Given the description of an element on the screen output the (x, y) to click on. 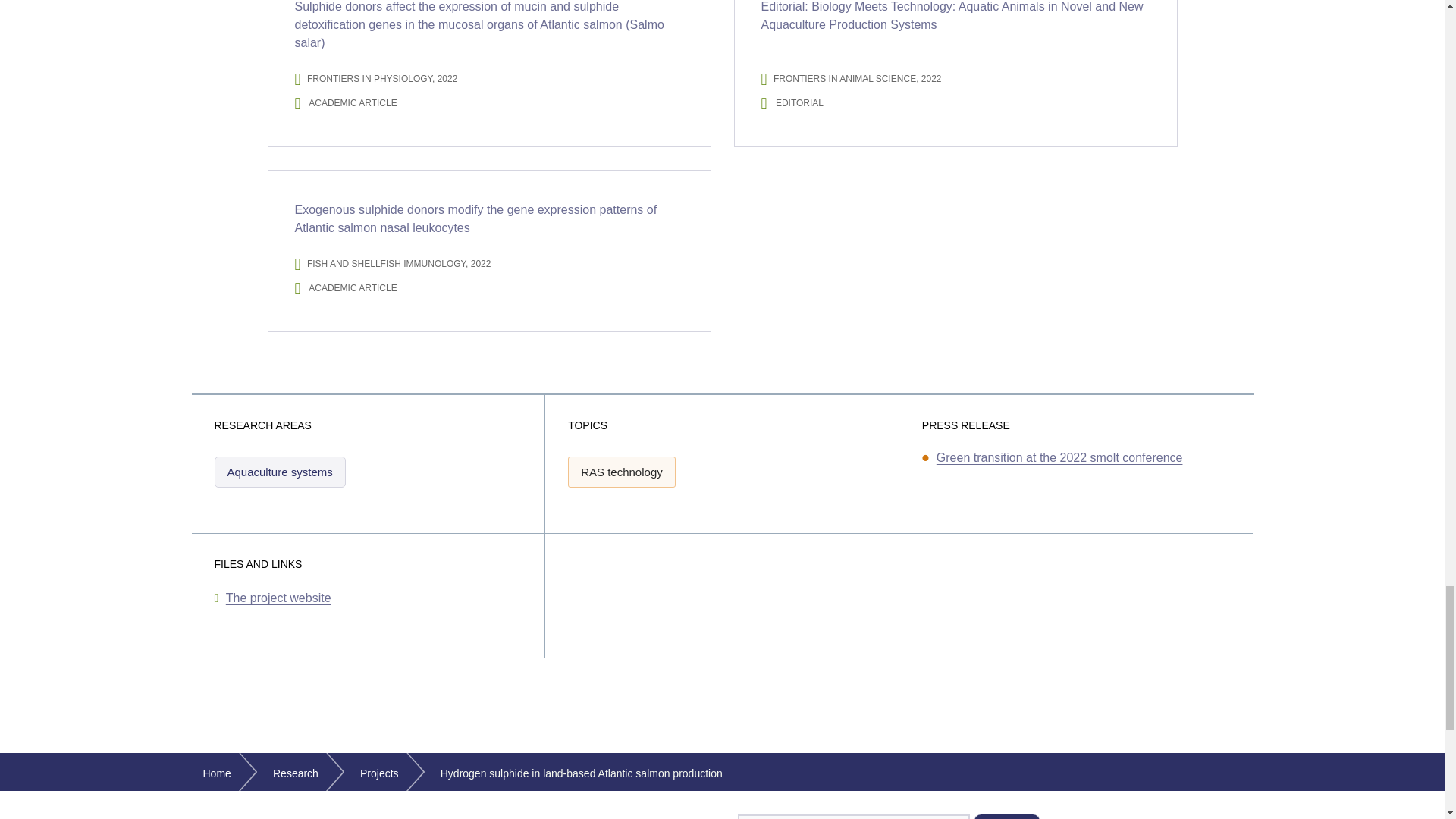
Sign up (1007, 816)
Go to Research. (295, 773)
Go to Projects. (378, 773)
Go to Nofima. (217, 773)
